Given the description of an element on the screen output the (x, y) to click on. 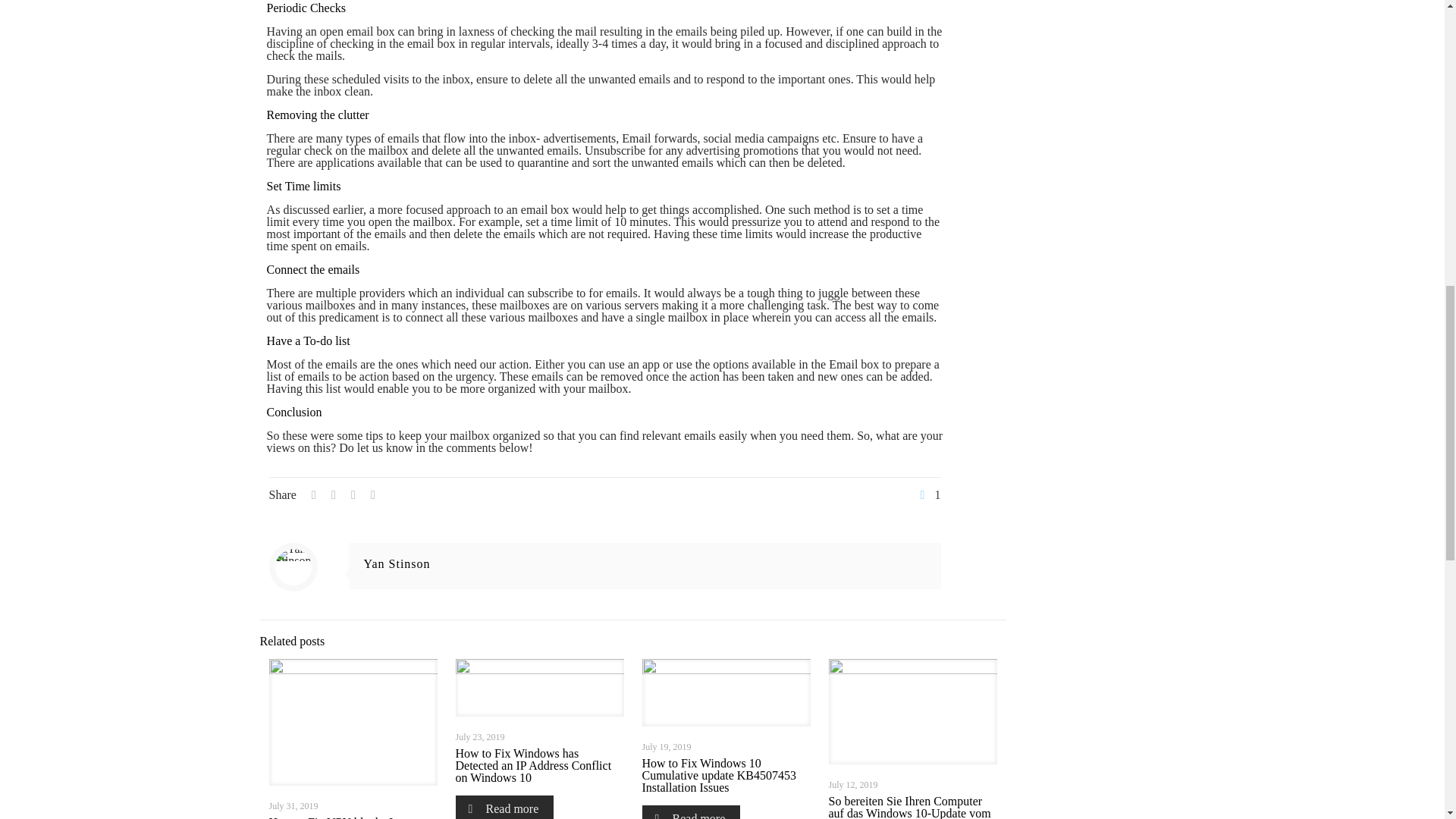
Read more (503, 807)
1 (927, 494)
How to Fix VPN blocks Internet Connection in Windows 10 (346, 817)
Yan Stinson (397, 563)
